Given the description of an element on the screen output the (x, y) to click on. 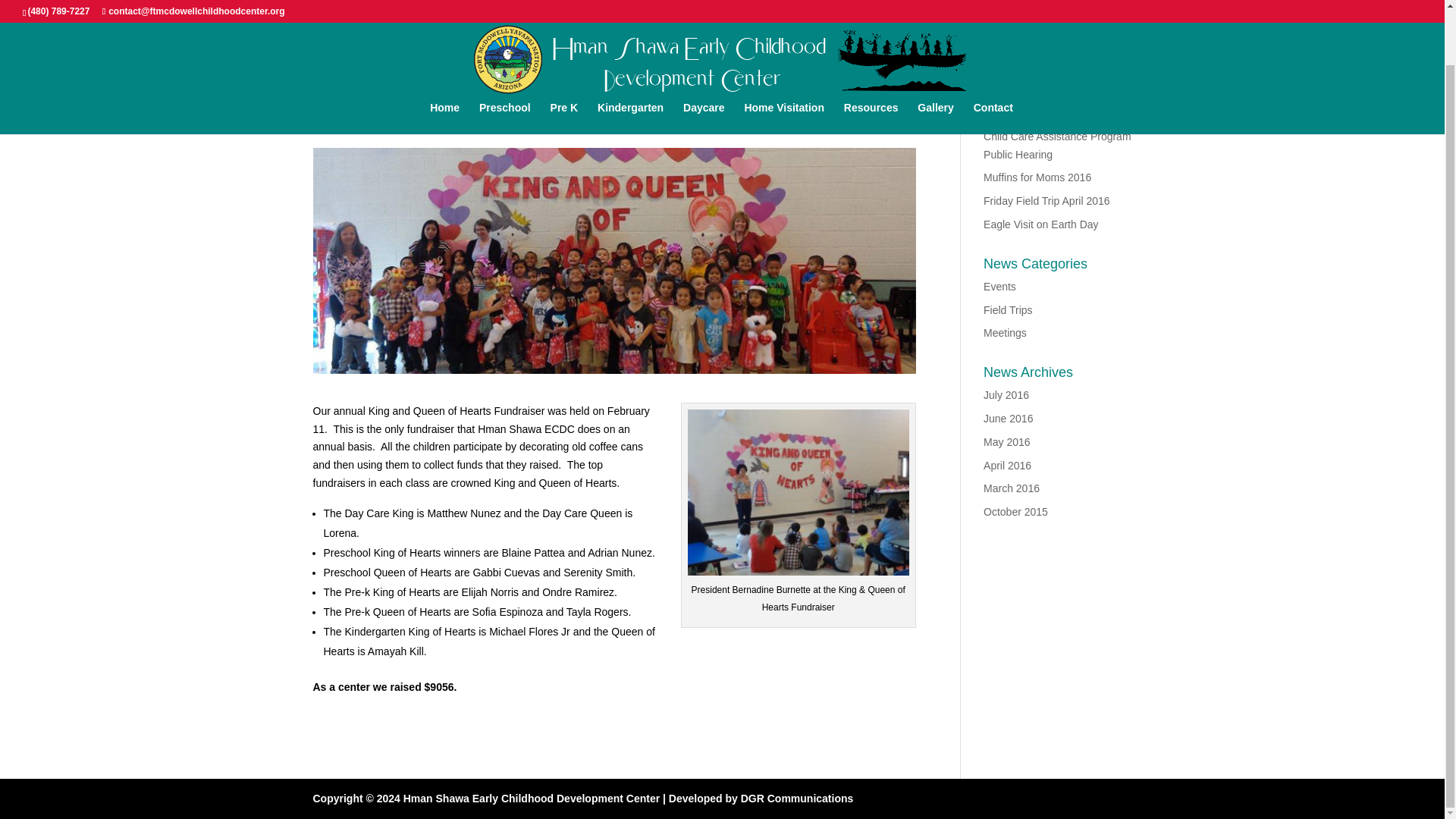
Daycare (703, 59)
Kindergarten (629, 59)
Friday Field Trip April 2016 (1046, 200)
July 2016 (1006, 395)
Gallery (935, 59)
Events (1000, 286)
March 2016 (1011, 488)
October 2015 (1016, 511)
Eagle Visit on Earth Day (1041, 224)
Events (480, 121)
